Given the description of an element on the screen output the (x, y) to click on. 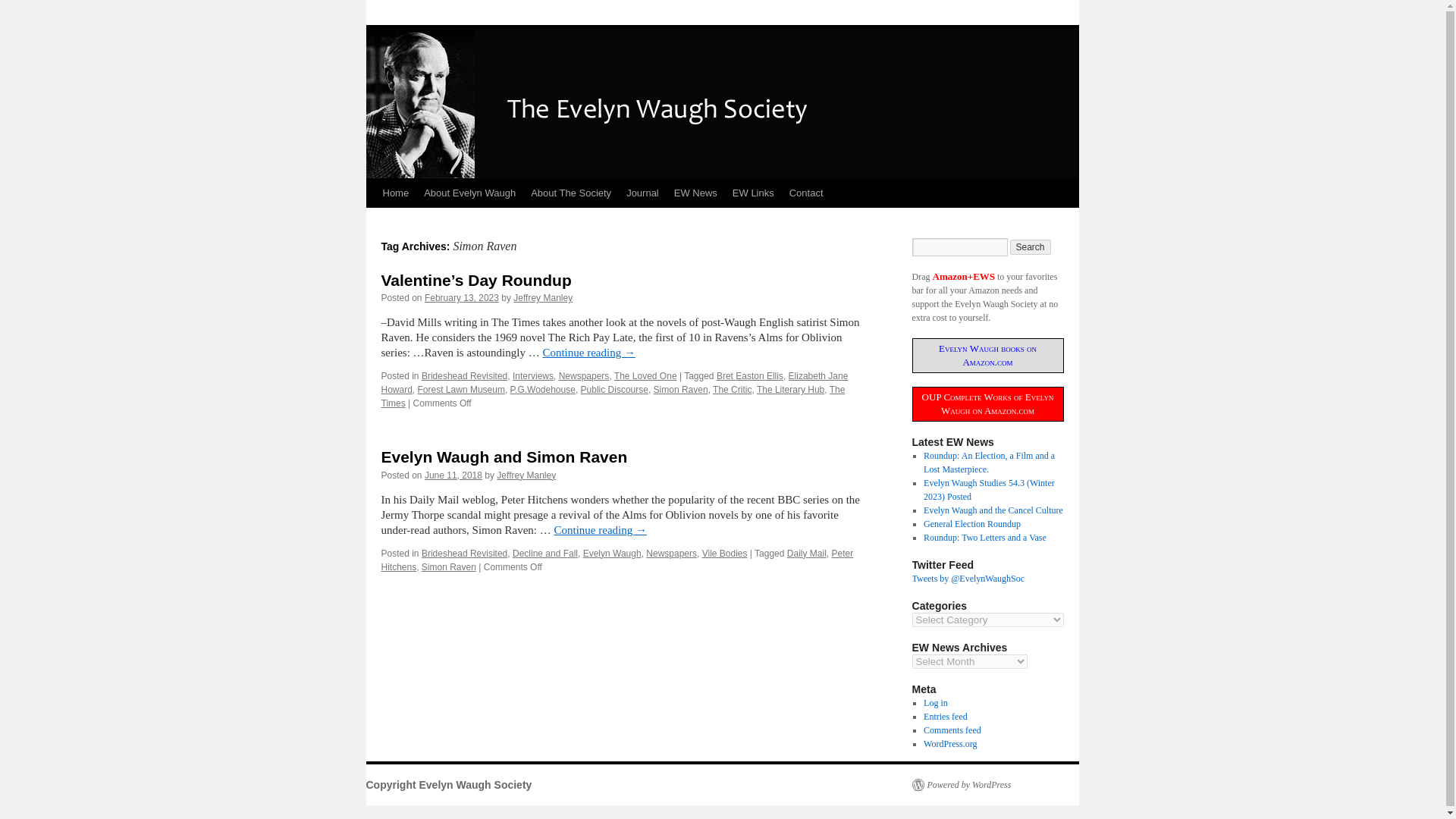
Simon Raven (680, 389)
Forest Lawn Museum (461, 389)
View all posts by Jeffrey Manley (542, 297)
June 11, 2018 (453, 475)
Journal (642, 193)
View all posts by Jeffrey Manley (526, 475)
EW Links (753, 193)
Home (395, 193)
The Literary Hub (790, 389)
Public Discourse (613, 389)
Brideshead Revisited (464, 376)
The Critic (732, 389)
About Evelyn Waugh (469, 193)
Brideshead Revisited (464, 552)
Decline and Fall (545, 552)
